Given the description of an element on the screen output the (x, y) to click on. 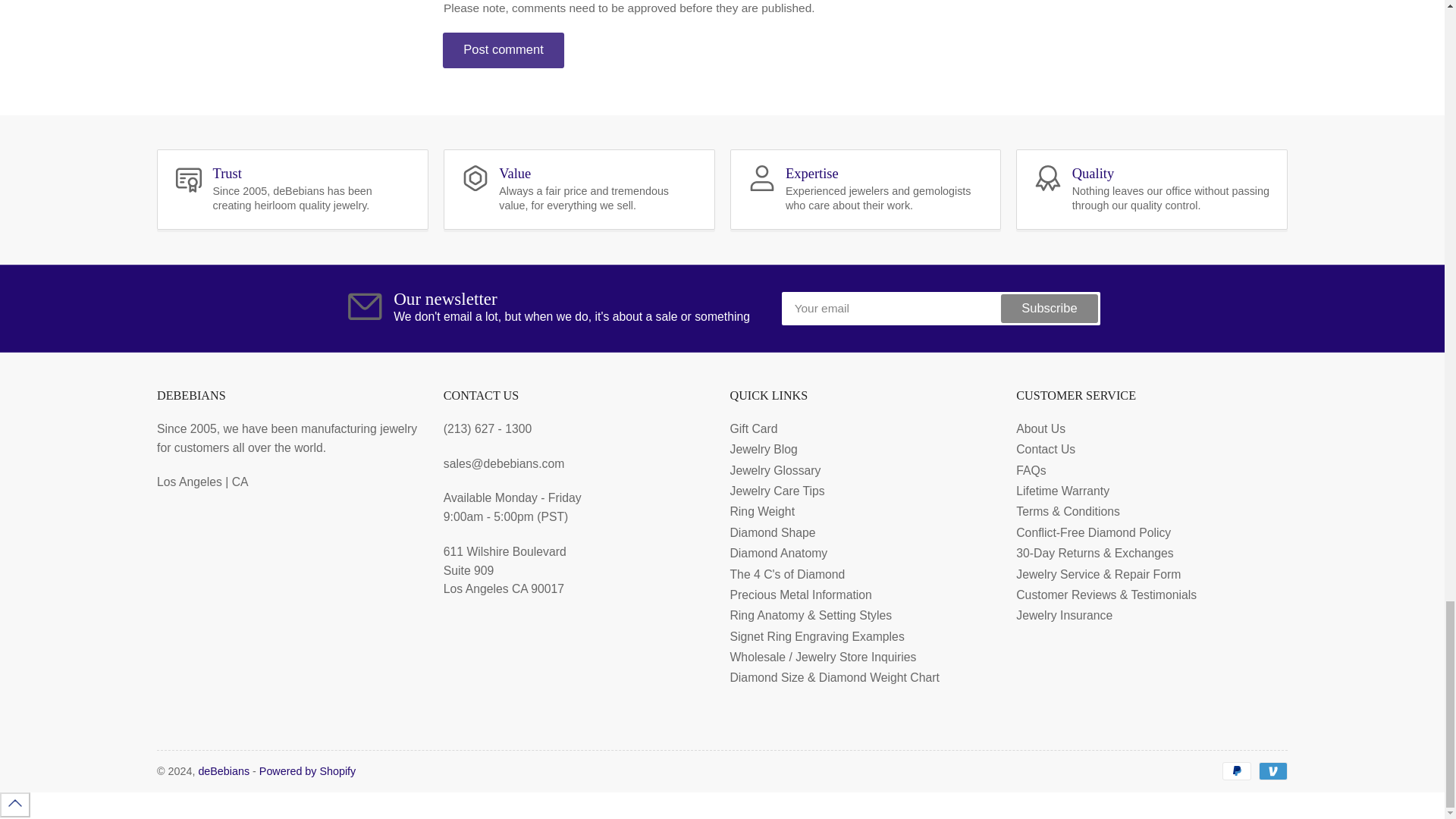
Post comment (503, 50)
Venmo (1273, 771)
PayPal (1236, 771)
